Given the description of an element on the screen output the (x, y) to click on. 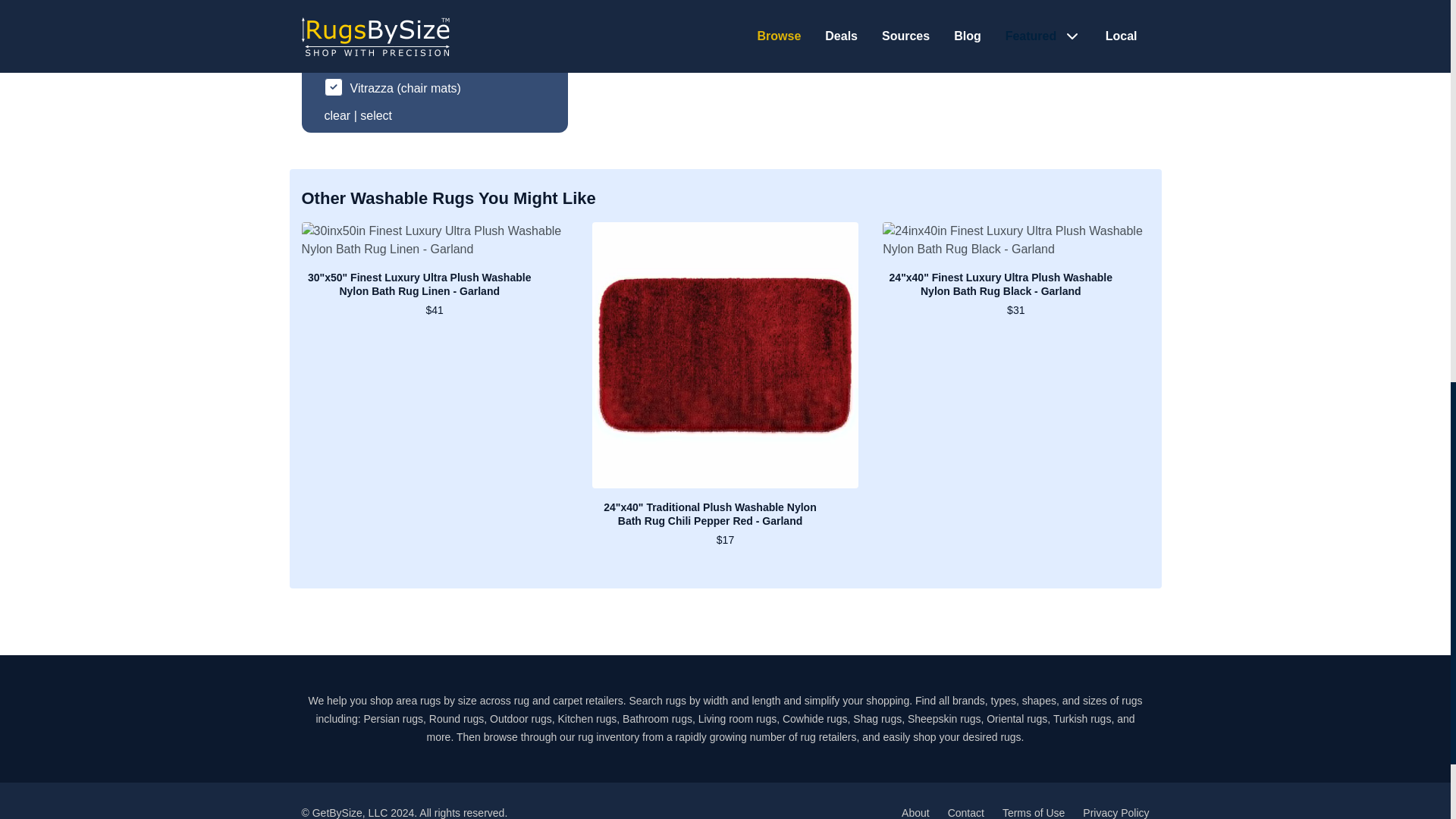
select (375, 115)
About (915, 812)
Contact (965, 812)
Terms of Use (1033, 812)
clear (337, 115)
Privacy Policy (1115, 812)
